Given the description of an element on the screen output the (x, y) to click on. 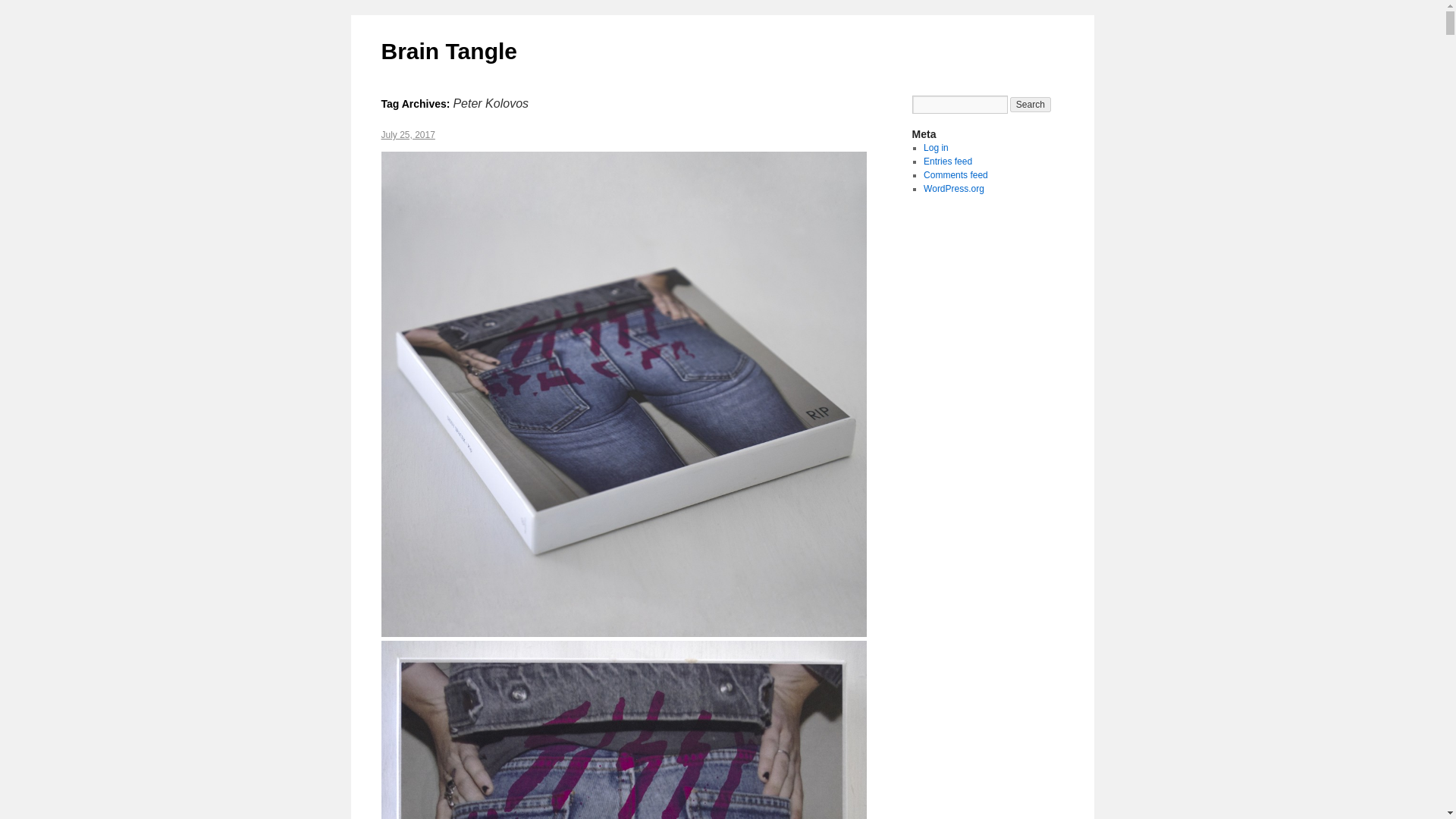
Brain Tangle (448, 50)
July 25, 2017 (406, 134)
DSC03773 (623, 729)
11:16 am (406, 134)
Search (1030, 104)
Brain Tangle (448, 50)
